Given the description of an element on the screen output the (x, y) to click on. 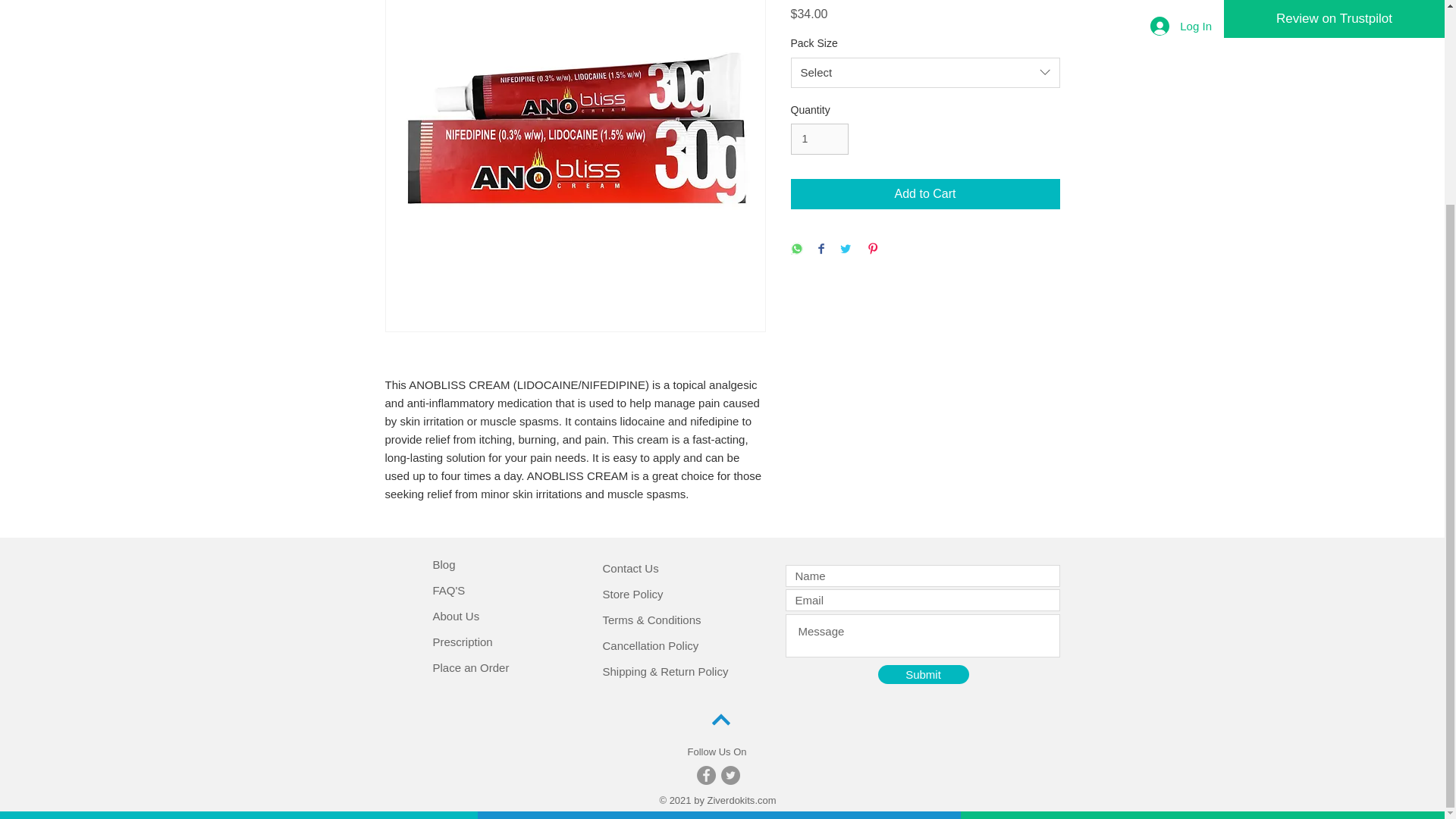
Add to Cart (924, 194)
Select (924, 72)
Place an Order (470, 667)
.com (765, 799)
Cancellation Policy (650, 645)
Prescription (462, 641)
Contact Us (630, 567)
Blog (443, 563)
FAQ'S (448, 590)
About Us (455, 615)
